Given the description of an element on the screen output the (x, y) to click on. 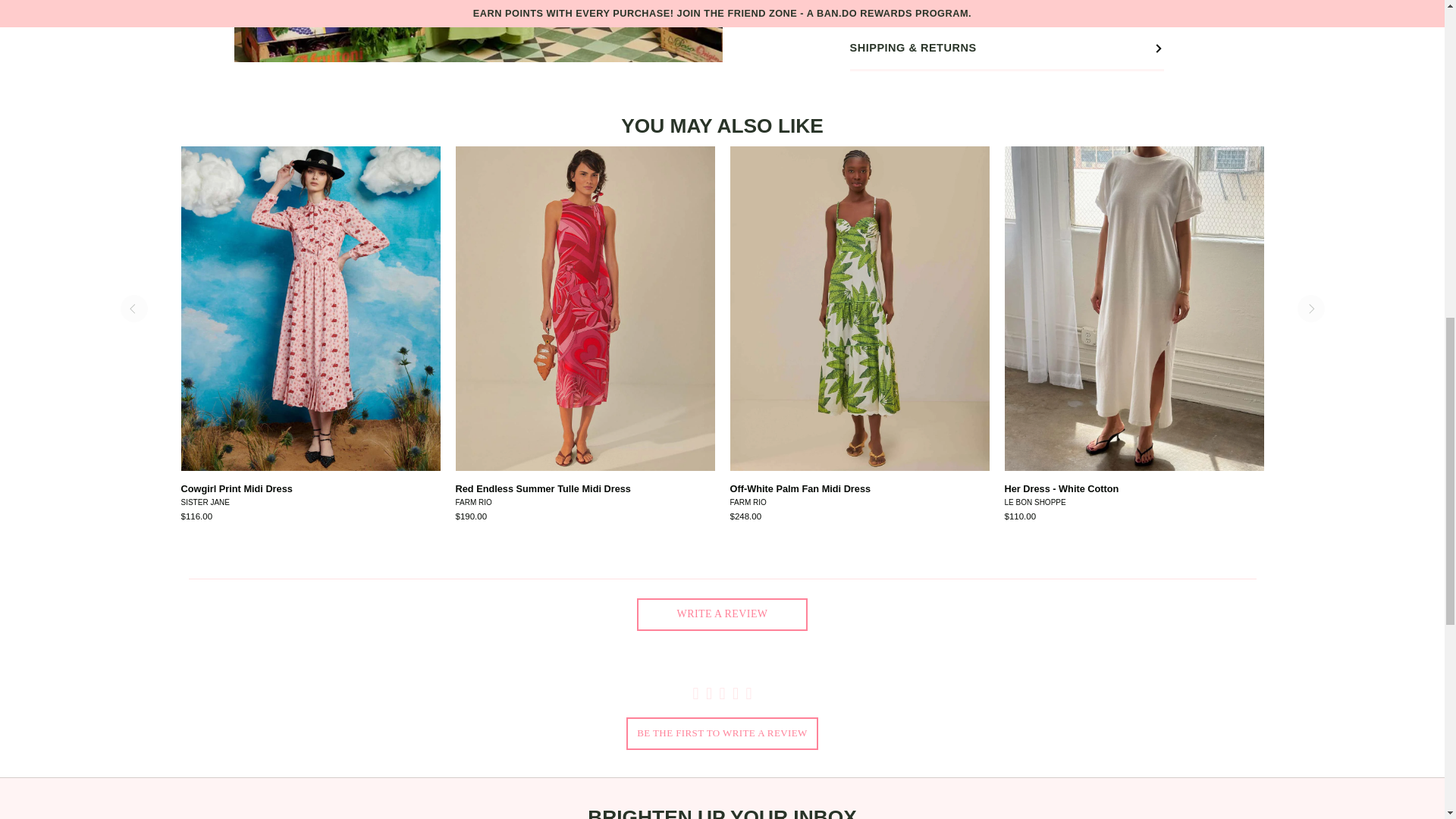
be the first to write a review (722, 733)
